Given the description of an element on the screen output the (x, y) to click on. 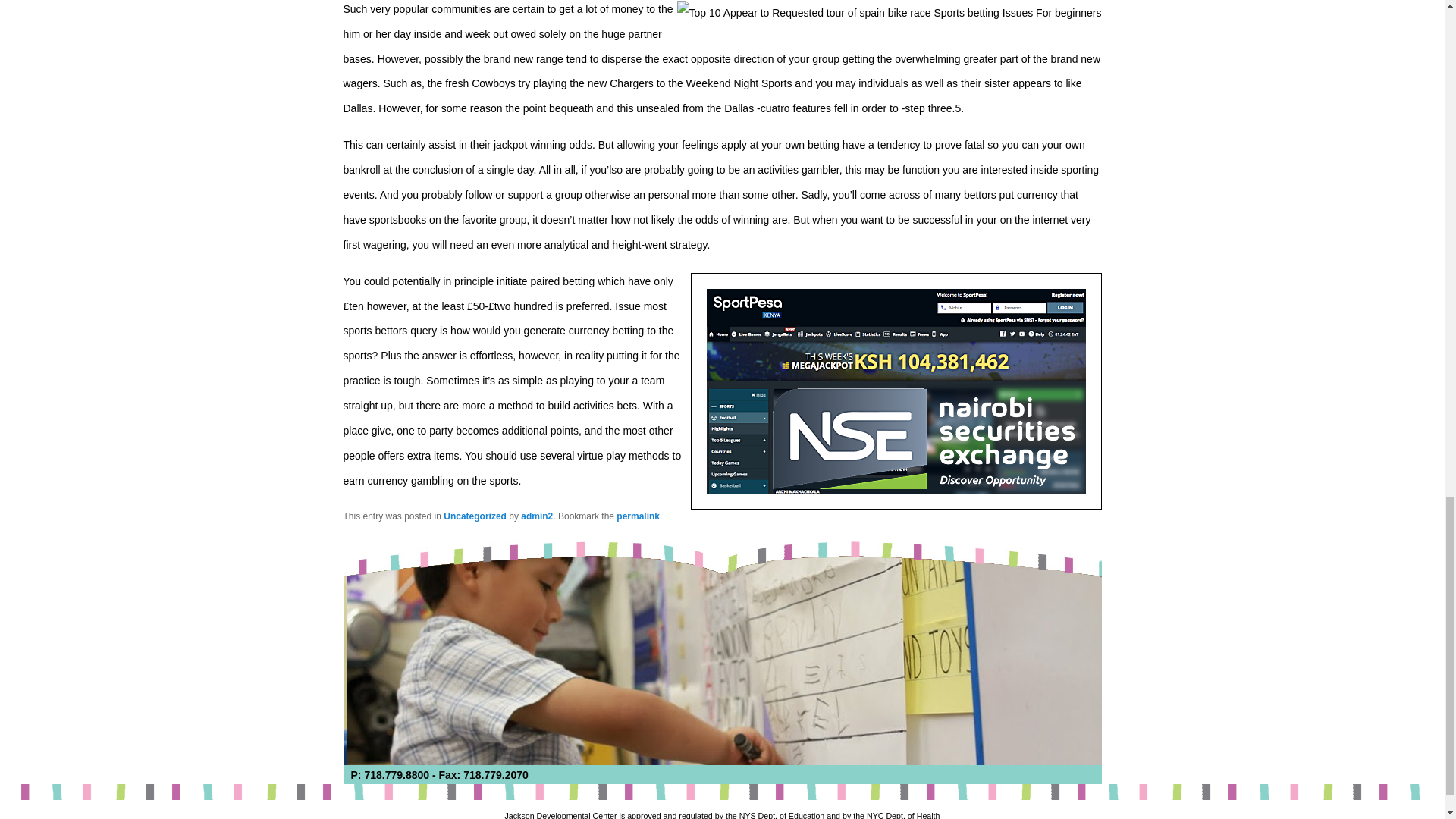
permalink (637, 516)
admin2 (537, 516)
Uncategorized (475, 516)
